Given the description of an element on the screen output the (x, y) to click on. 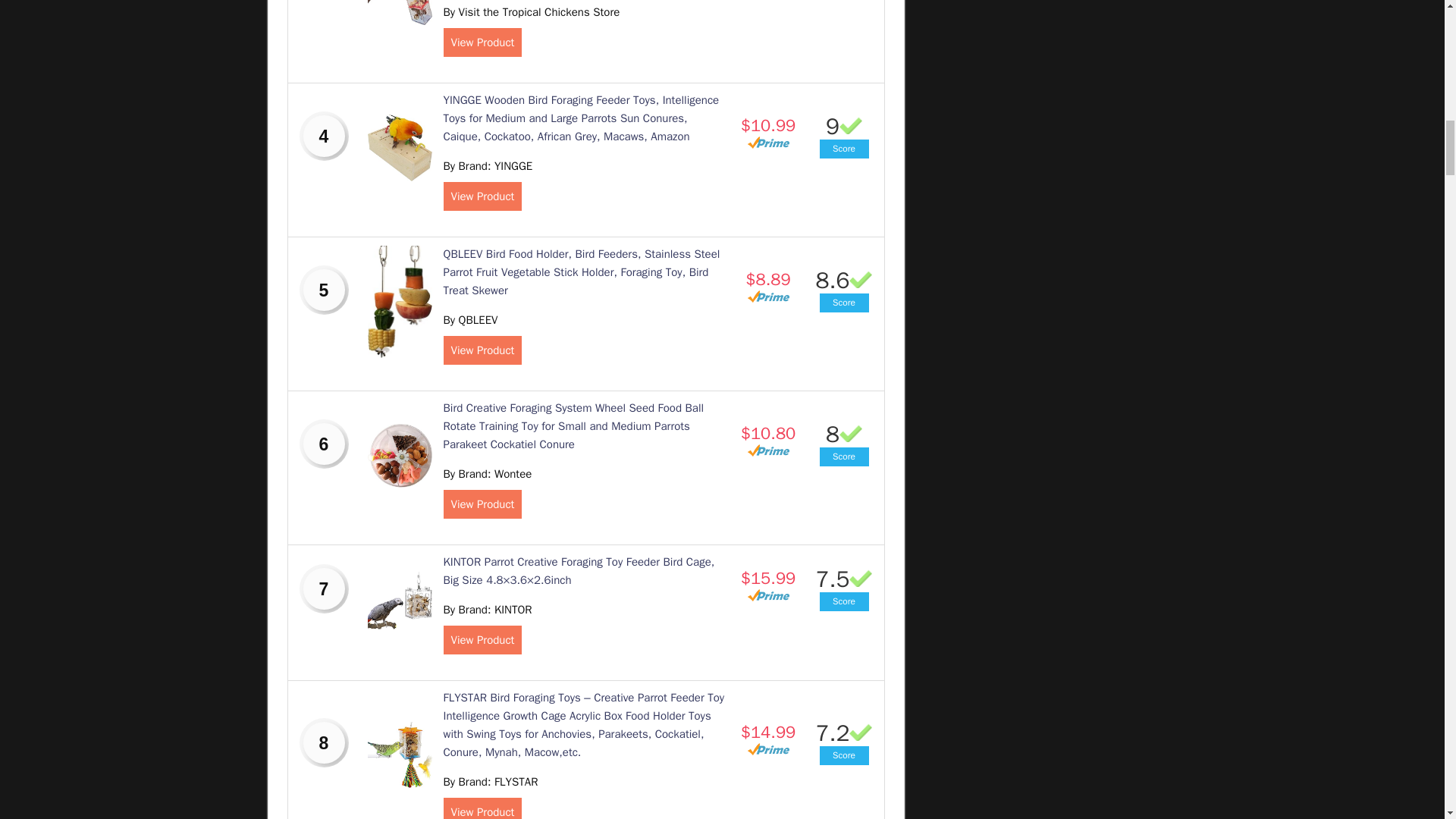
View Product (481, 195)
View Product (481, 41)
View Product (481, 349)
By Brand: YINGGE (487, 165)
By Visit the Tropical Chickens Store (531, 11)
View Product (481, 503)
By Brand: Wontee (486, 473)
By QBLEEV (469, 319)
